Given the description of an element on the screen output the (x, y) to click on. 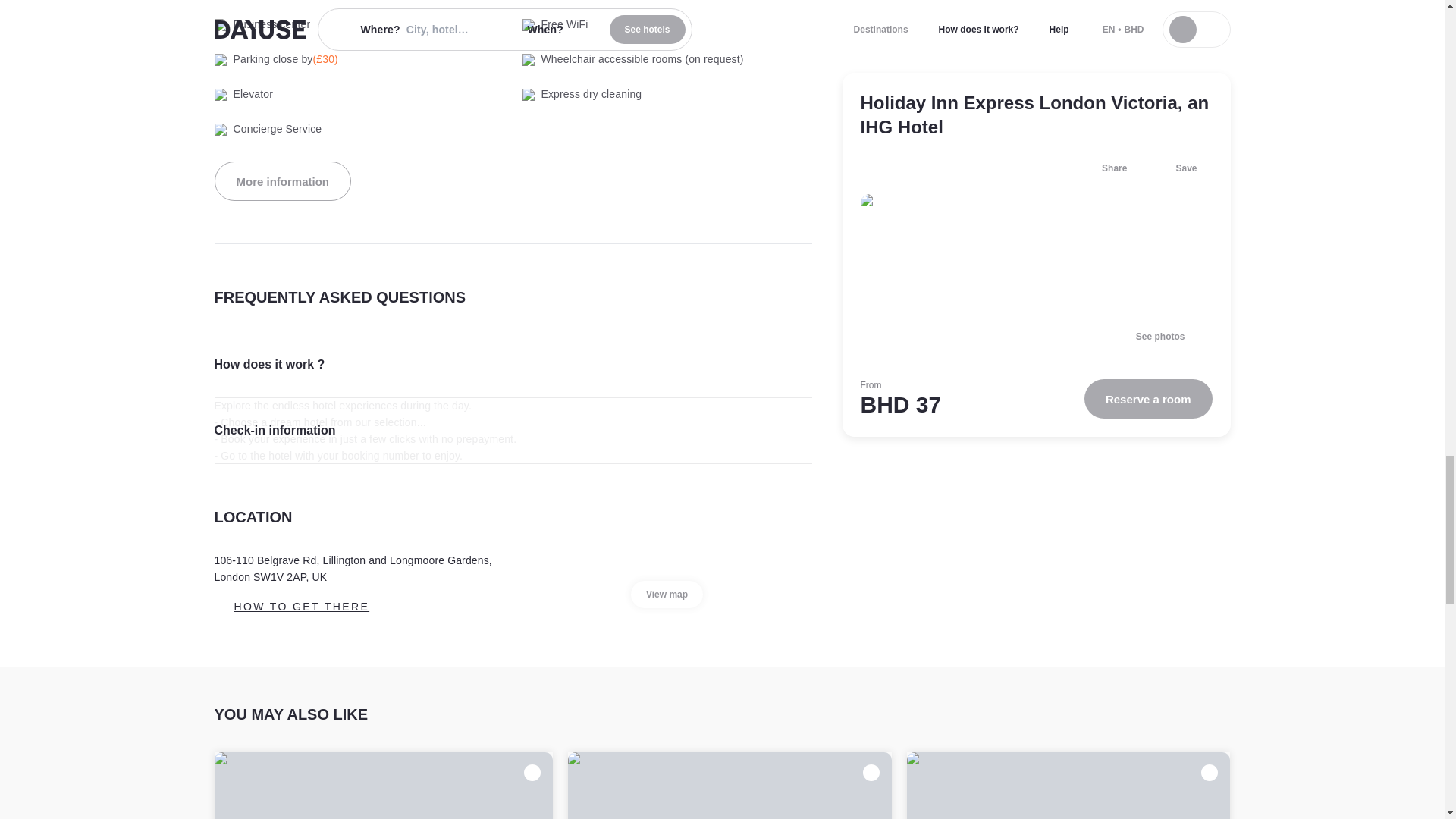
Mornington Hotel London Victoria (383, 785)
Mornington Victor Hotel London Belgravia (729, 785)
Huttons Hotel Victoria (1068, 785)
